Given the description of an element on the screen output the (x, y) to click on. 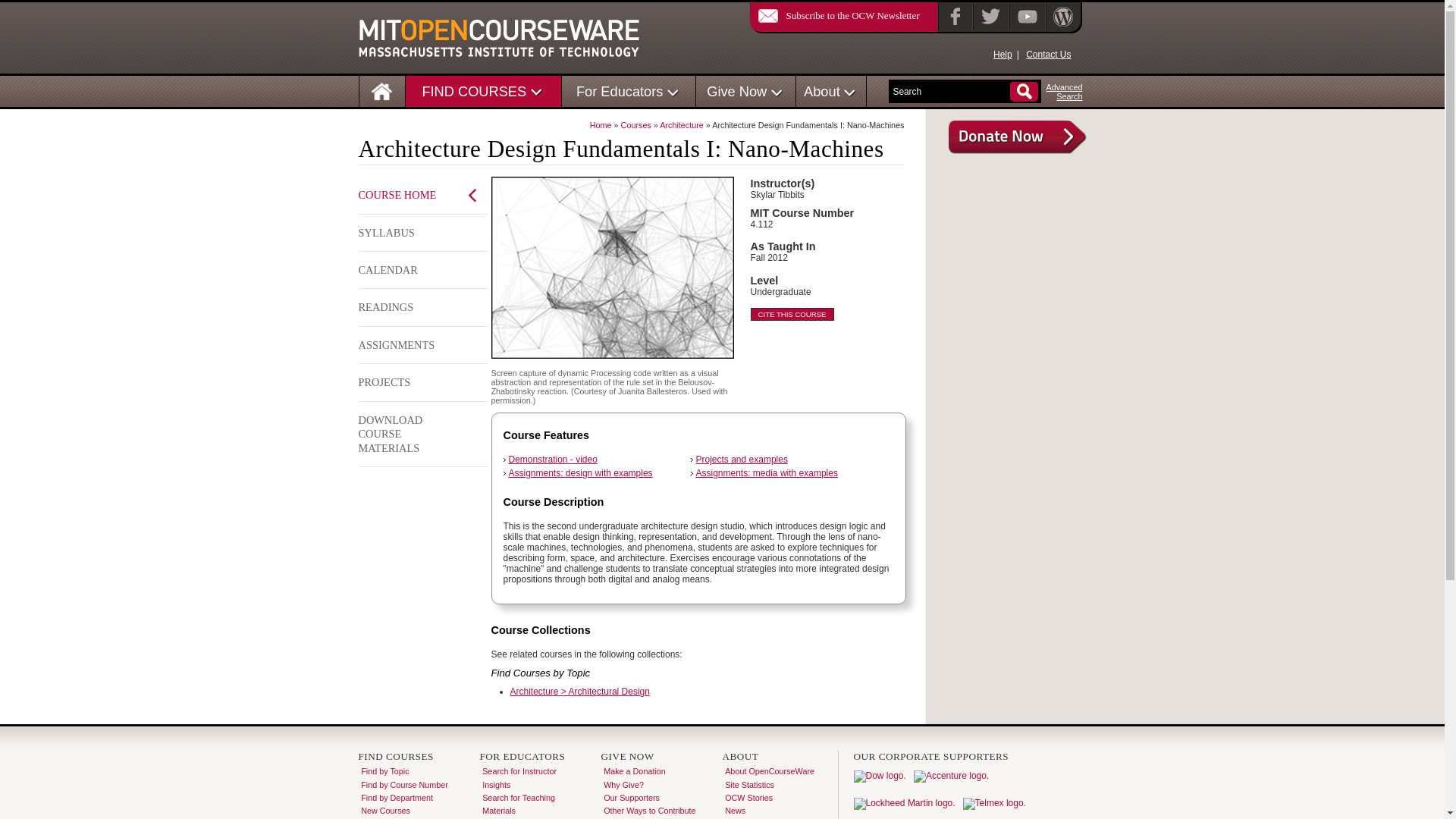
For Educators (619, 91)
Help (1001, 54)
FIND COURSES (473, 91)
Search (951, 91)
Search (951, 91)
Contact Us (1048, 54)
Subscribe to the OCW Newsletter (833, 15)
